Given the description of an element on the screen output the (x, y) to click on. 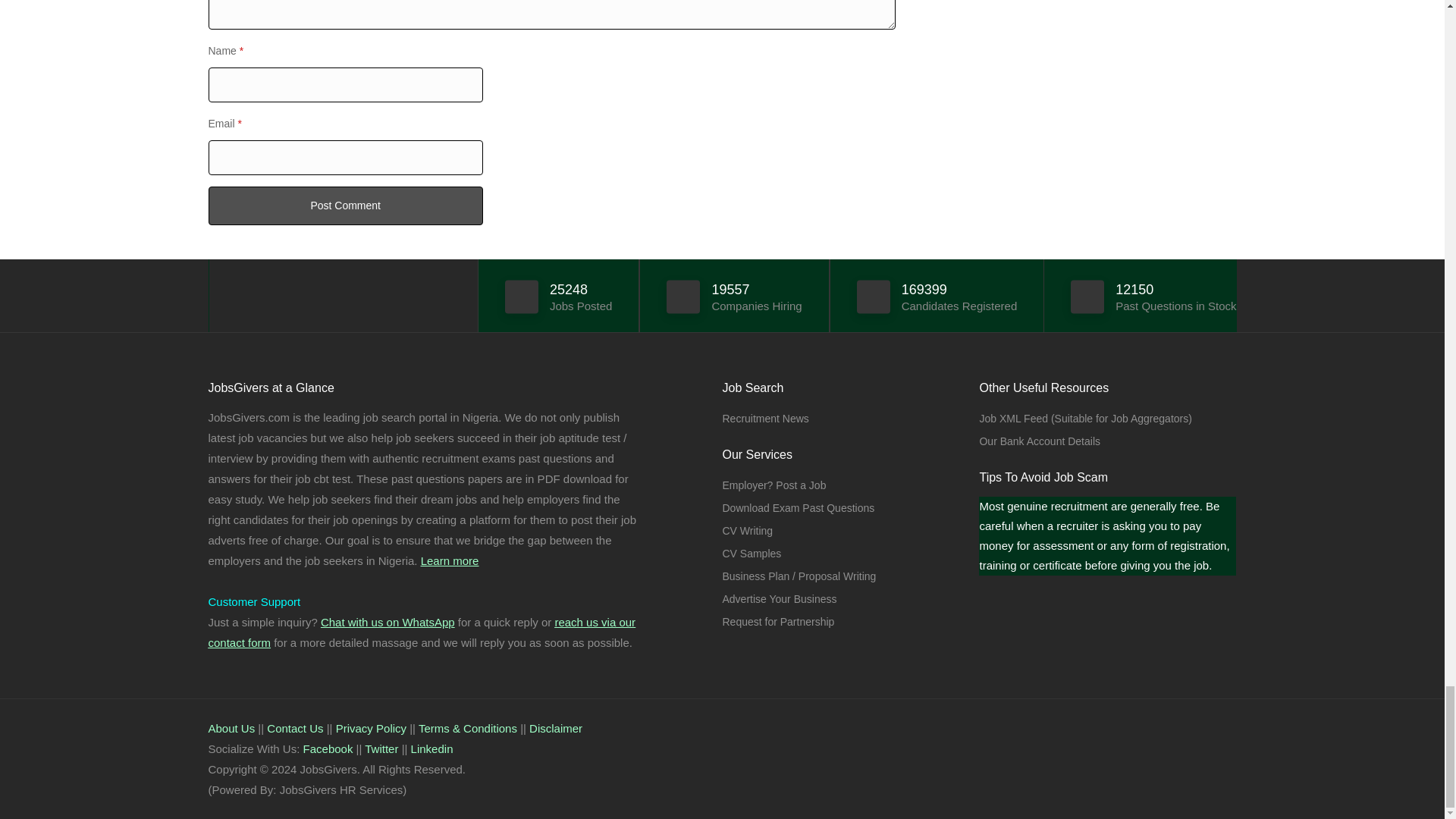
Post Comment (344, 205)
